Given the description of an element on the screen output the (x, y) to click on. 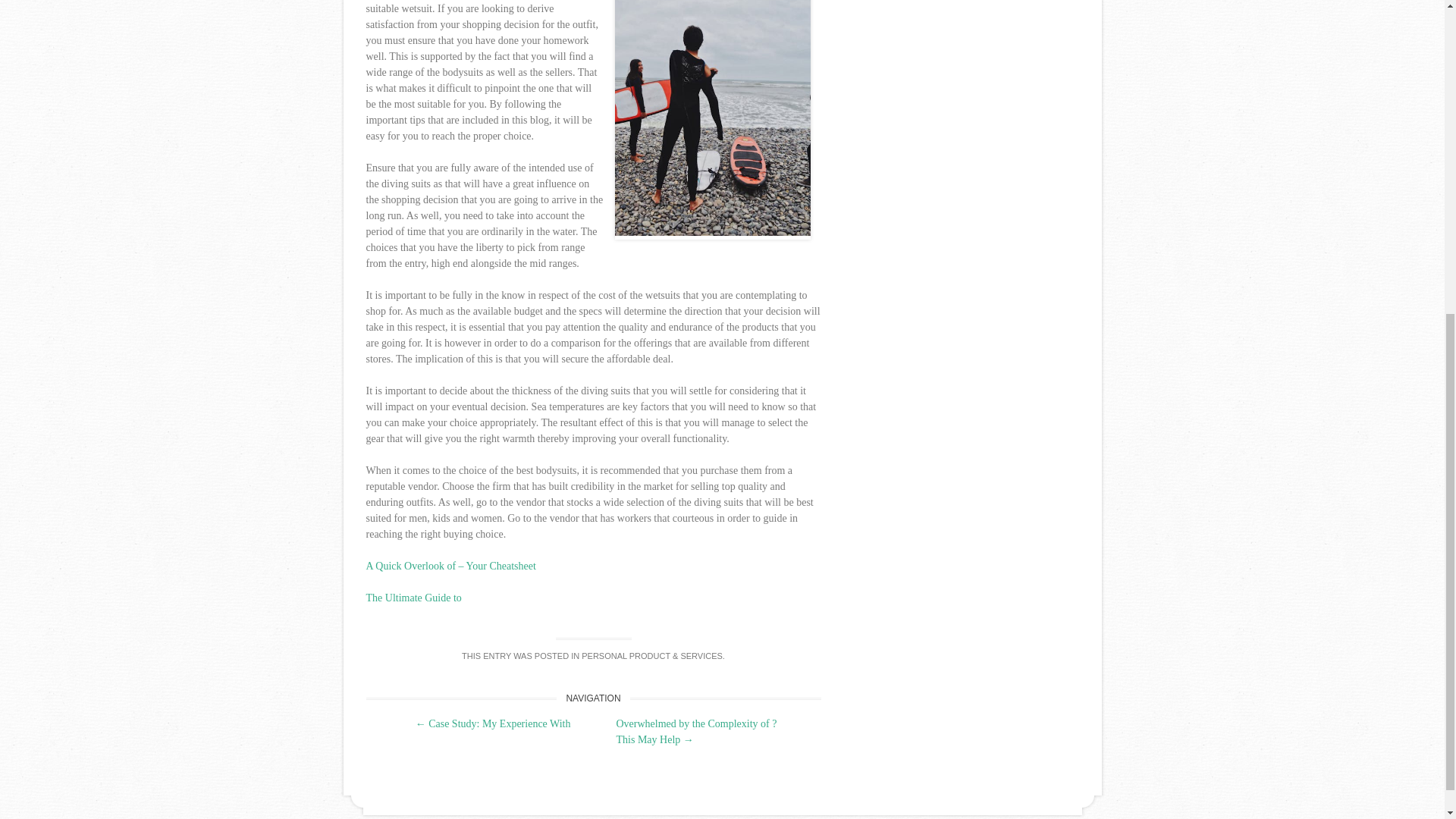
The Ultimate Guide to (413, 597)
